Given the description of an element on the screen output the (x, y) to click on. 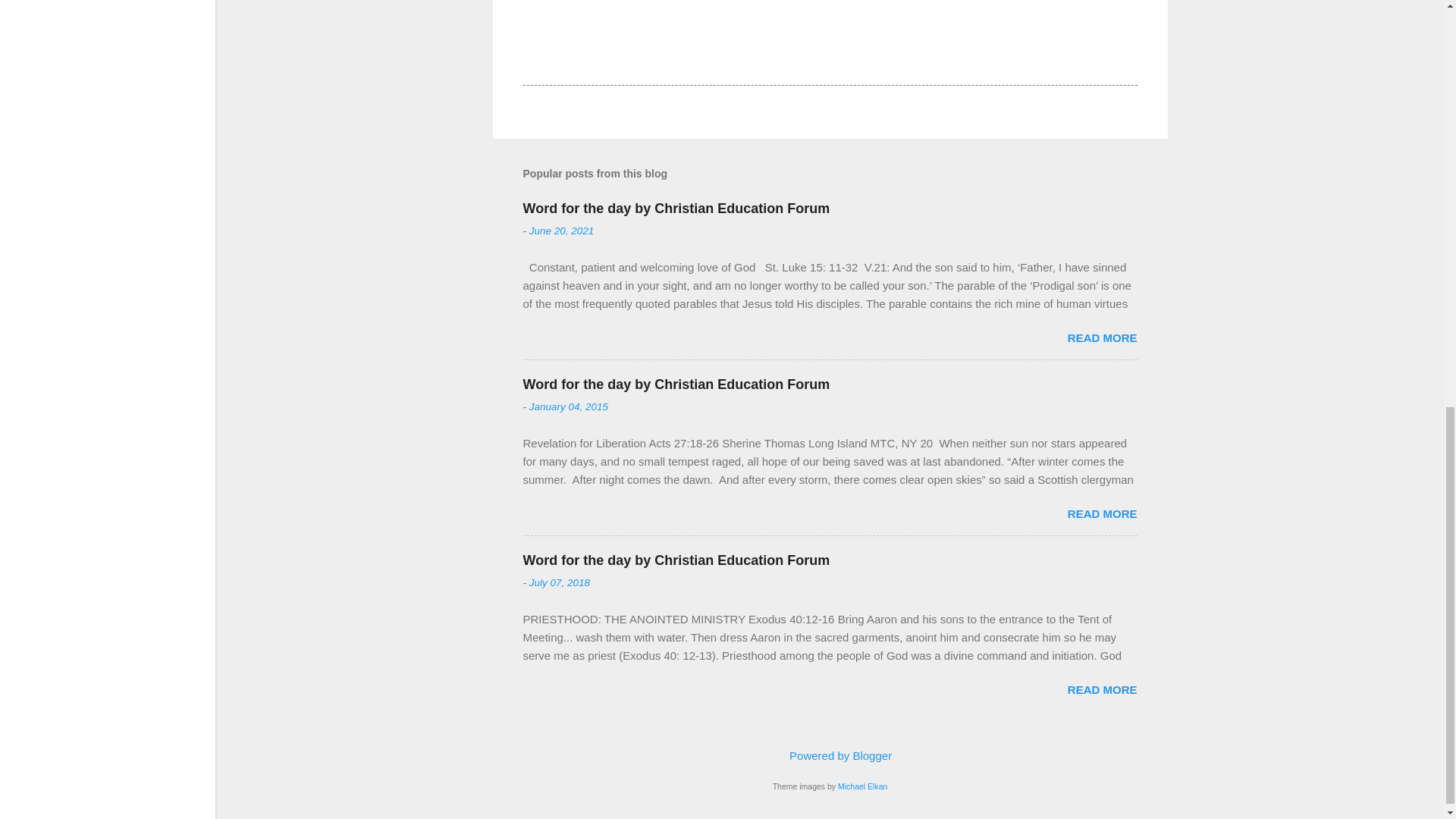
Michael Elkan (862, 786)
January 04, 2015 (568, 406)
READ MORE (1102, 689)
Powered by Blogger (829, 755)
READ MORE (1102, 513)
READ MORE (1102, 337)
July 07, 2018 (559, 582)
June 20, 2021 (561, 230)
Word for the day by Christian Education Forum (675, 384)
permanent link (561, 230)
Word for the day by Christian Education Forum (675, 208)
Word for the day by Christian Education Forum (675, 560)
